Given the description of an element on the screen output the (x, y) to click on. 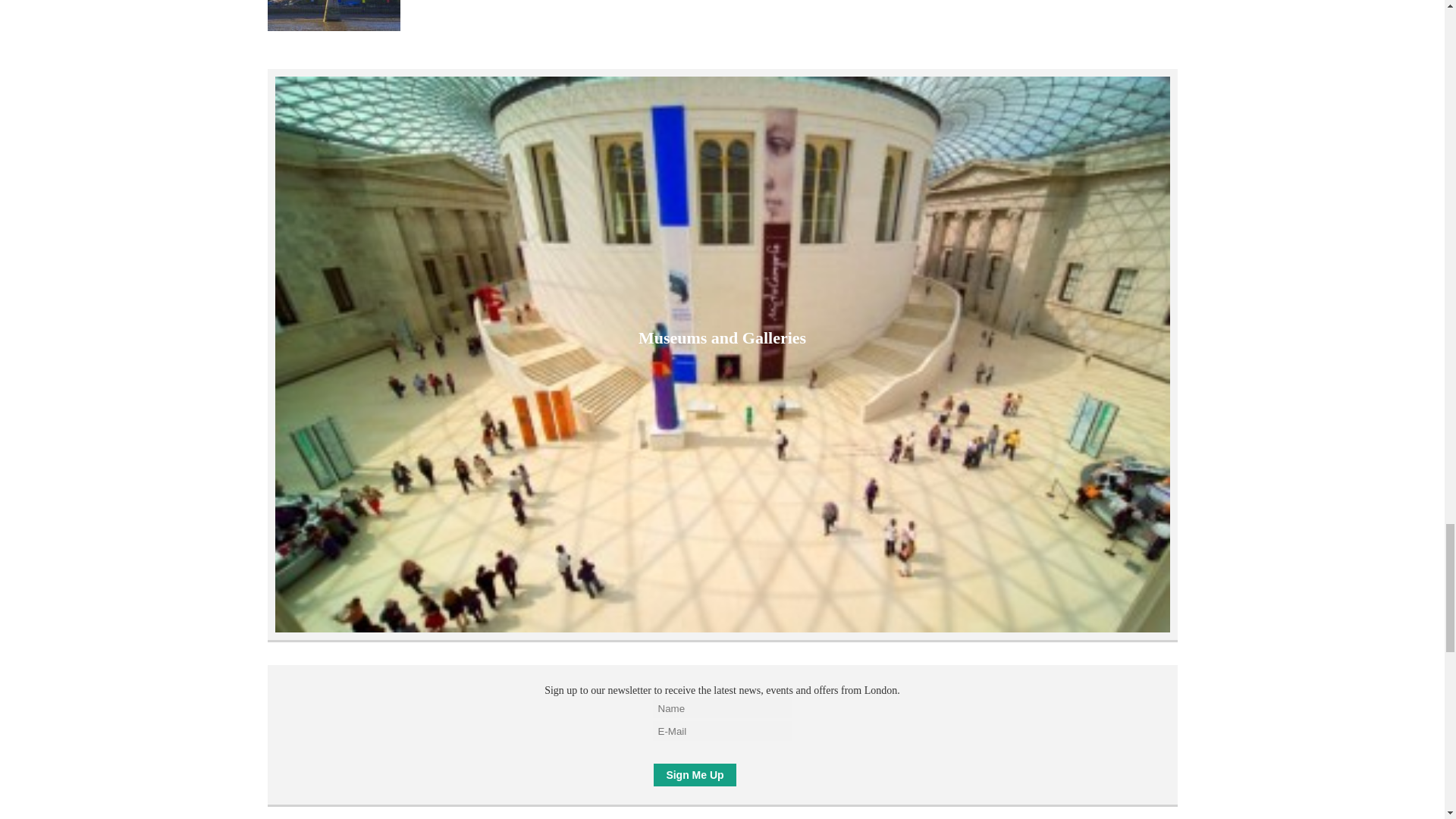
Sign Me Up (694, 774)
